Given the description of an element on the screen output the (x, y) to click on. 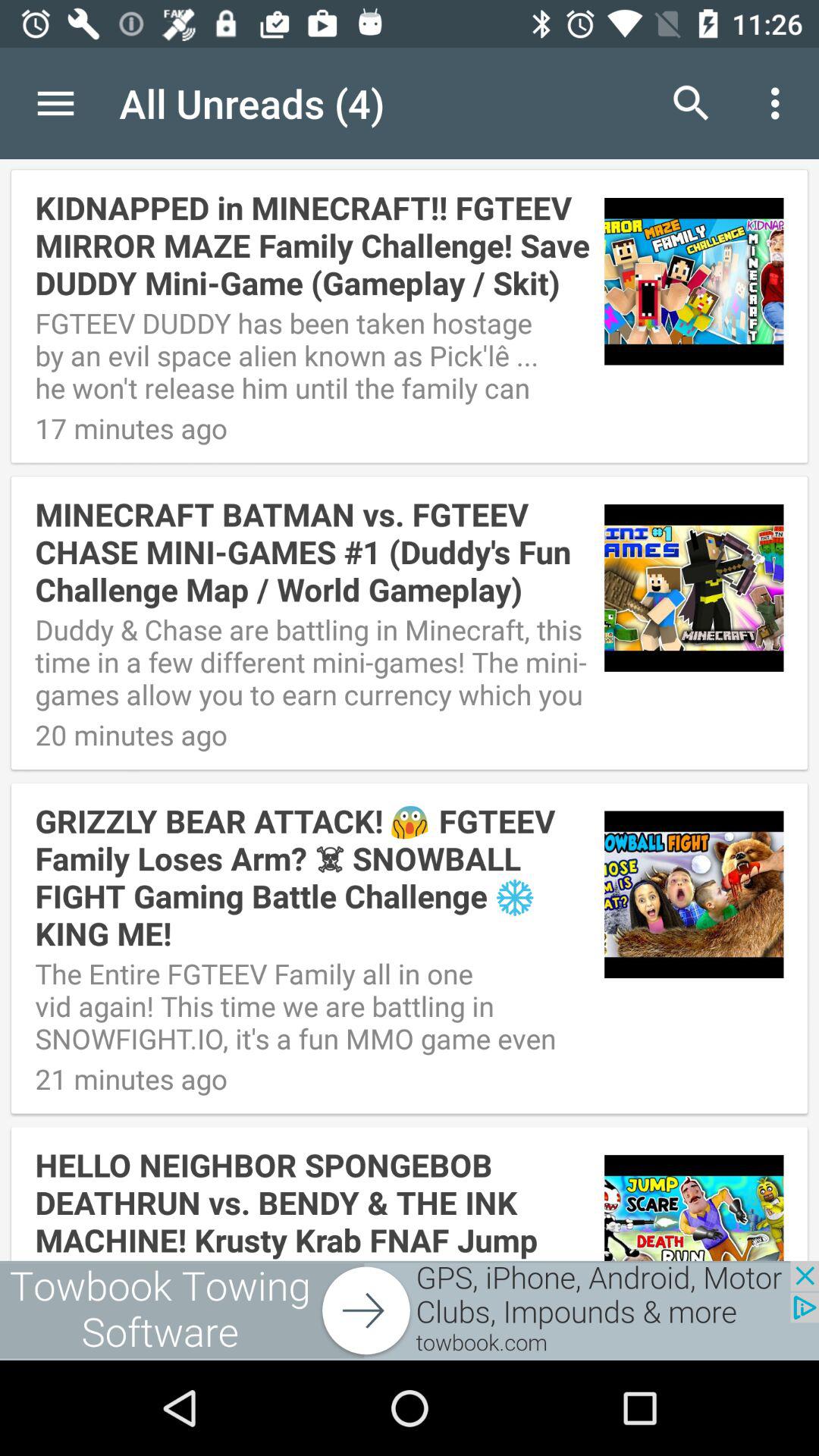
click on the search icon (691, 103)
click on last icon at top right corner (779, 103)
select the second image to the right of minecraft batman vs fgteev chas minigames 1 text (693, 582)
select the fourth image which is on the bottom right corner of the page (693, 1201)
